Given the description of an element on the screen output the (x, y) to click on. 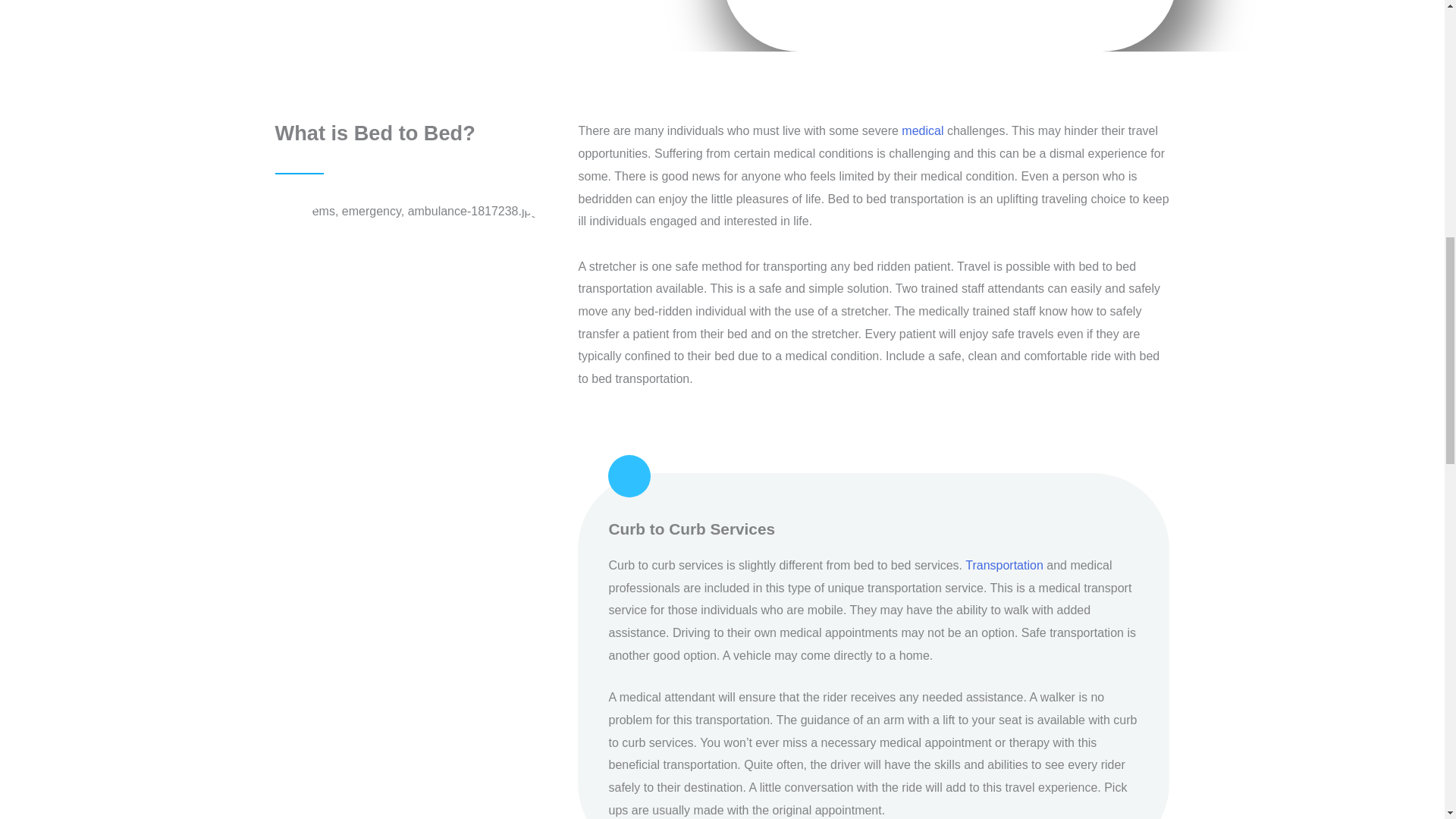
Transportation (1004, 564)
medical (922, 130)
